Given the description of an element on the screen output the (x, y) to click on. 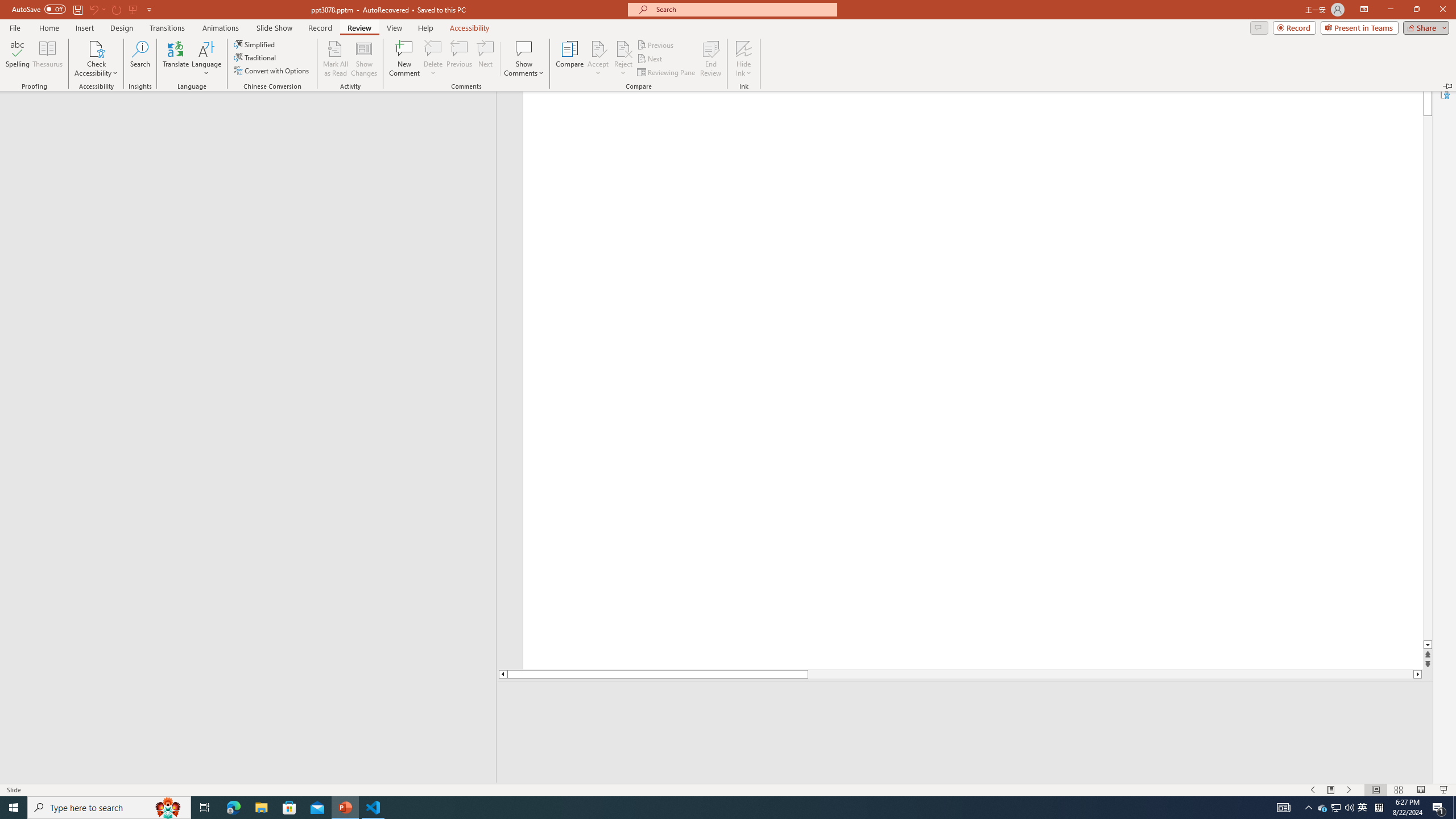
User Promoted Notification Area (1336, 807)
